Given the description of an element on the screen output the (x, y) to click on. 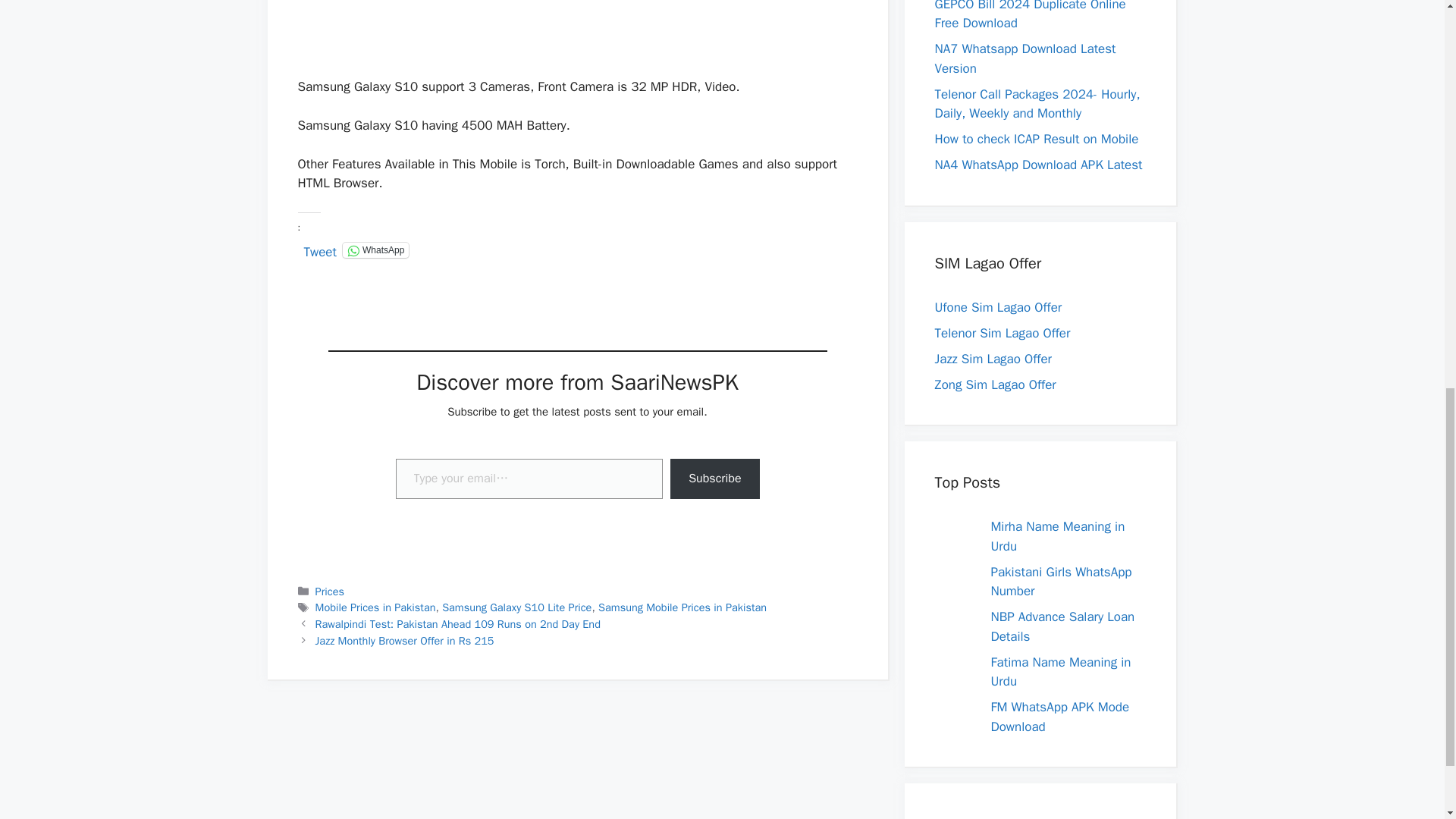
Prices (329, 591)
WhatsApp (375, 249)
Mobile Prices in Pakistan (375, 607)
How to check ICAP Result on Mobile (1036, 150)
Samsung Galaxy S10 Lite Price (516, 607)
Tweet (319, 249)
Jazz Monthly Browser Offer in Rs 215 (405, 640)
NA7 Whatsapp Download Latest Version (1024, 69)
Samsung Mobile Prices in Pakistan (682, 607)
